Given the description of an element on the screen output the (x, y) to click on. 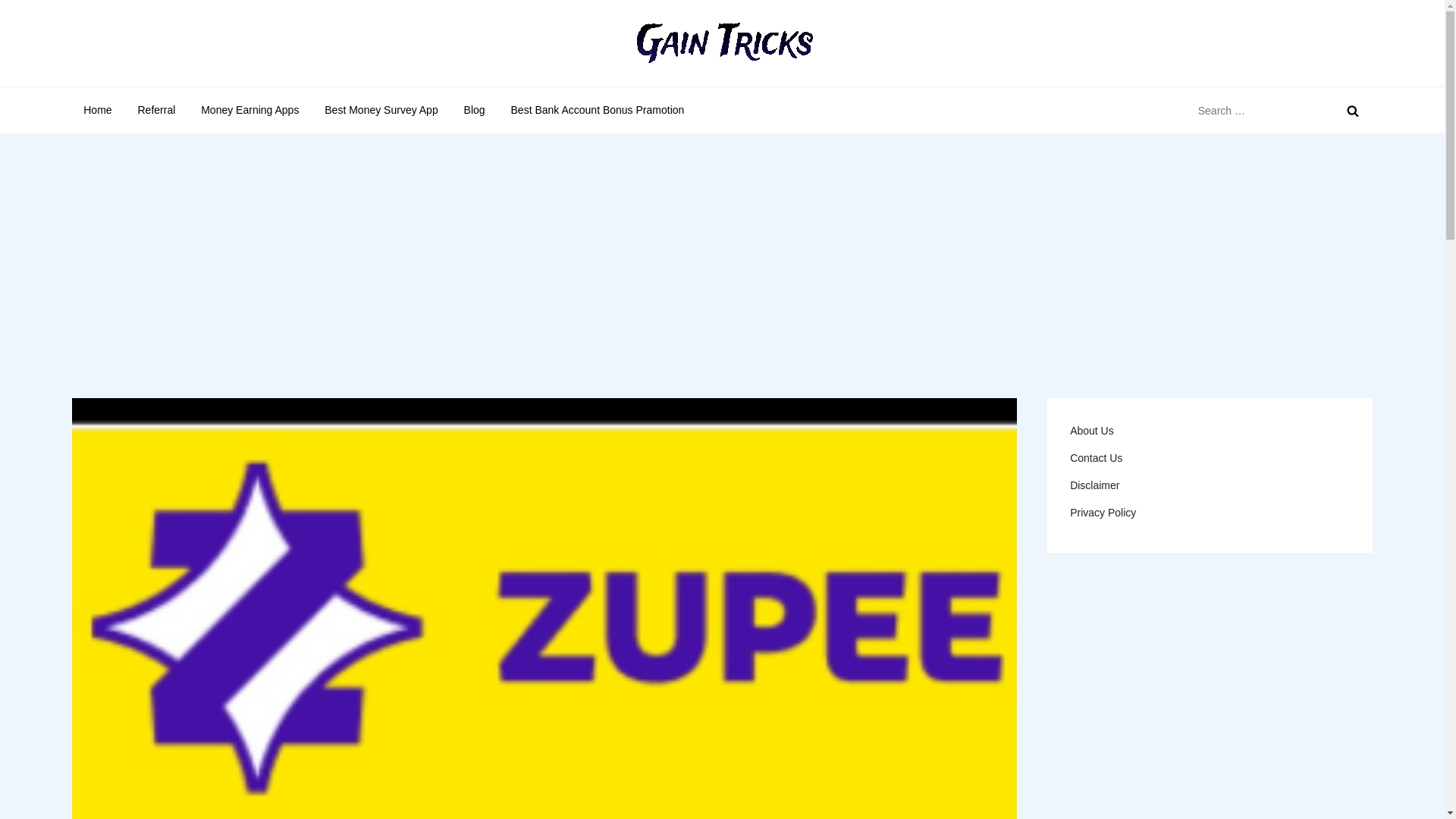
About Us (1091, 430)
Blog (474, 109)
Best Money Survey App (380, 109)
Privacy Policy (1102, 512)
Disclaimer (1094, 485)
Referral (155, 109)
Contact Us (1096, 457)
Money Earning Apps (249, 109)
Best Bank Account Bonus Pramotion (597, 109)
